Given the description of an element on the screen output the (x, y) to click on. 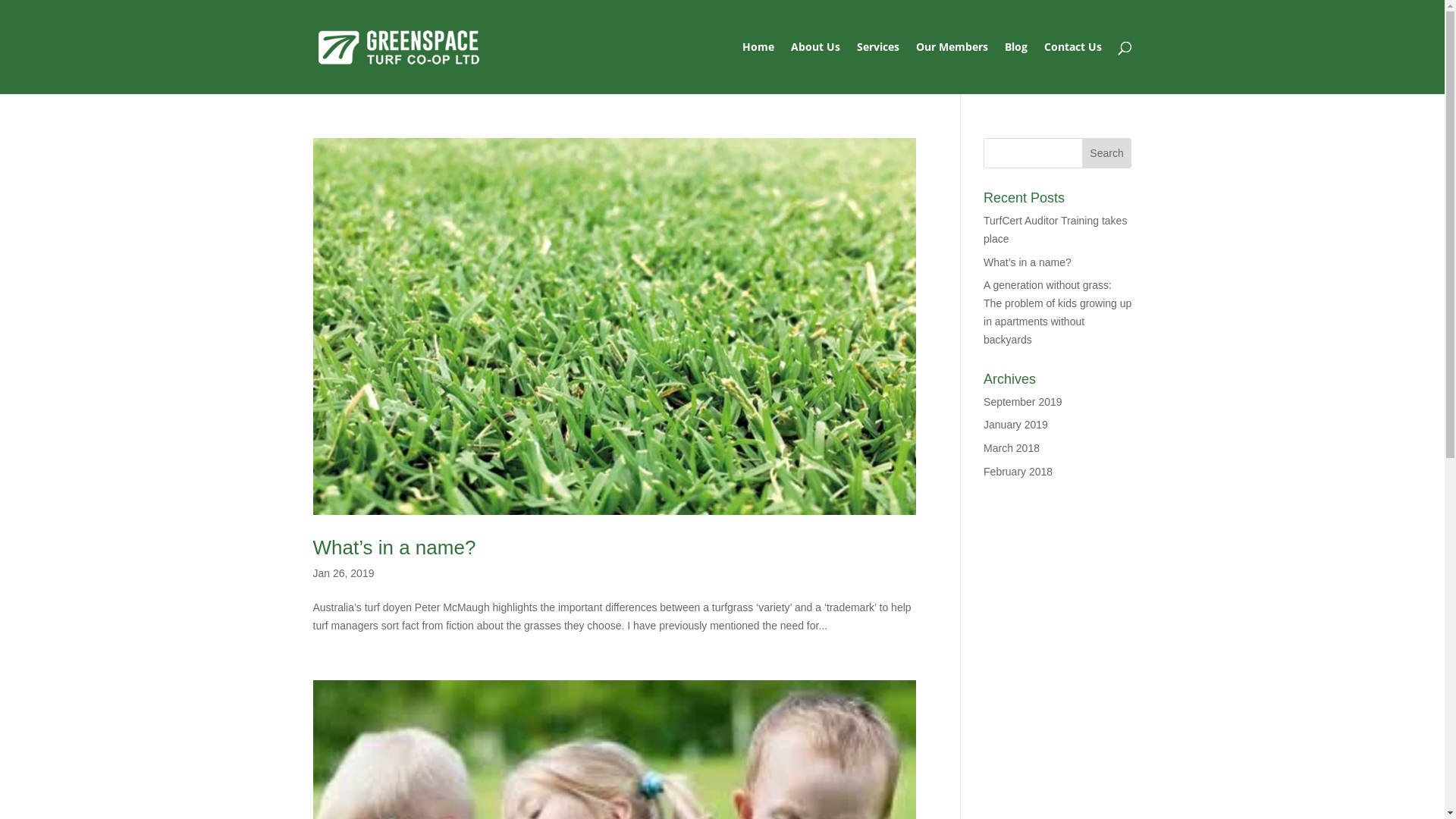
Our Members Element type: text (952, 67)
TurfCert Auditor Training takes place Element type: text (1054, 229)
About Us Element type: text (814, 67)
Home Element type: text (757, 67)
Contact Us Element type: text (1072, 67)
January 2019 Element type: text (1015, 424)
Services Element type: text (877, 67)
March 2018 Element type: text (1011, 448)
Blog Element type: text (1015, 67)
September 2019 Element type: text (1022, 401)
Search Element type: text (1107, 153)
February 2018 Element type: text (1017, 471)
